Given the description of an element on the screen output the (x, y) to click on. 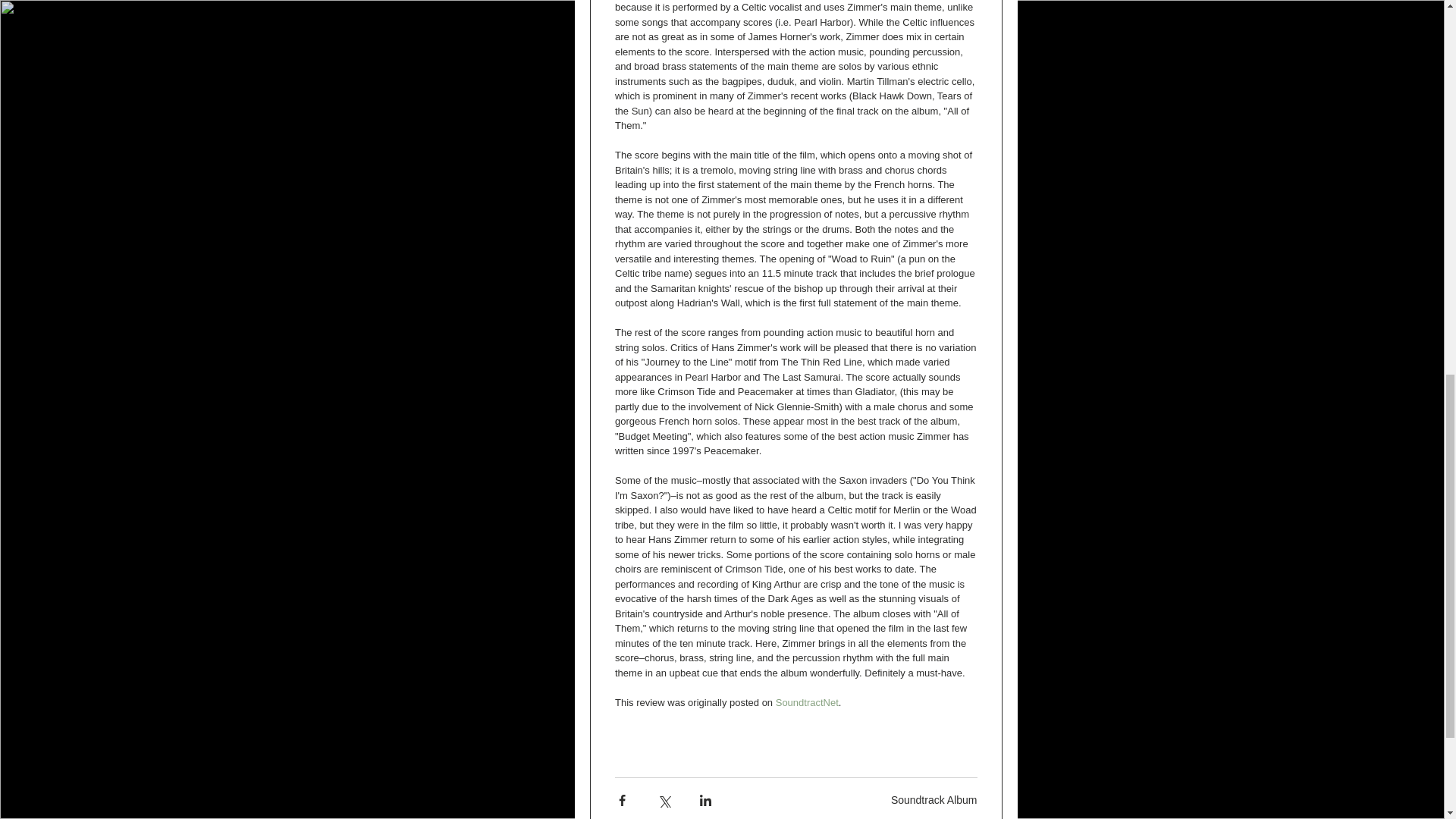
Soundtrack Album (933, 799)
SoundtractNet (806, 701)
